Given the description of an element on the screen output the (x, y) to click on. 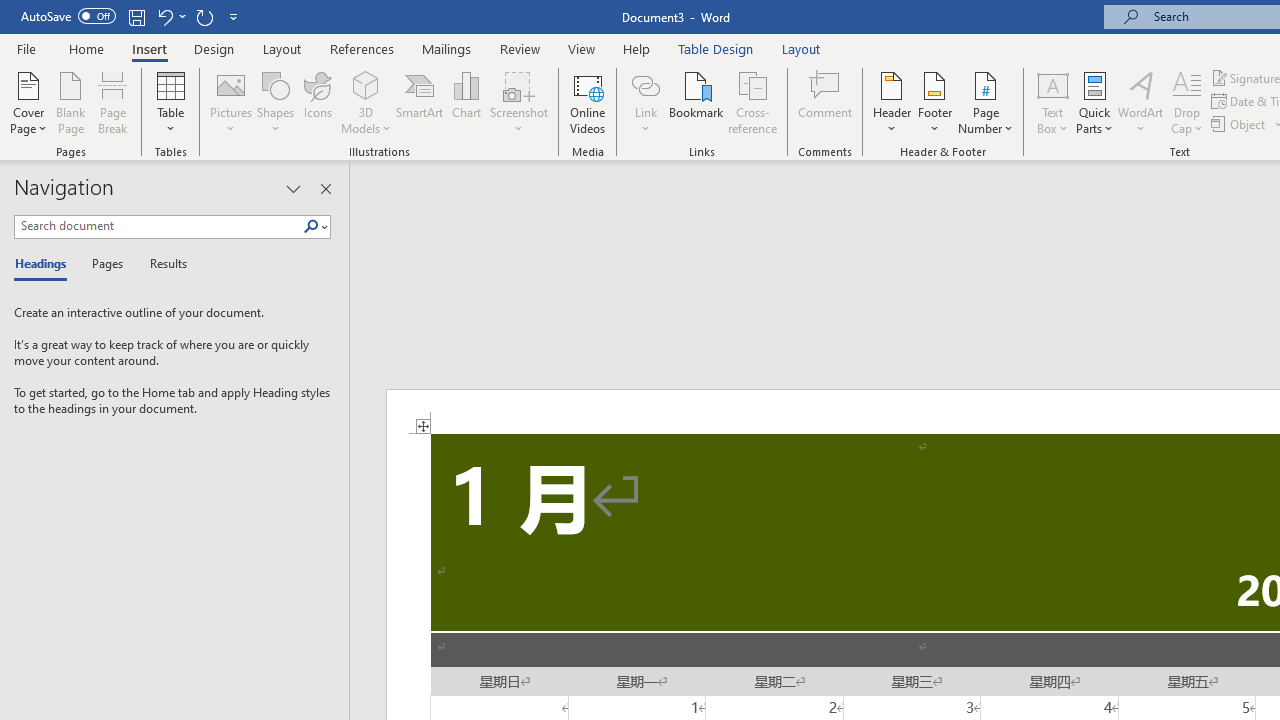
Text Box (1052, 102)
Chart... (466, 102)
Link (645, 84)
WordArt (1141, 102)
Object... (1240, 124)
Page Number (986, 102)
Header (891, 102)
